Given the description of an element on the screen output the (x, y) to click on. 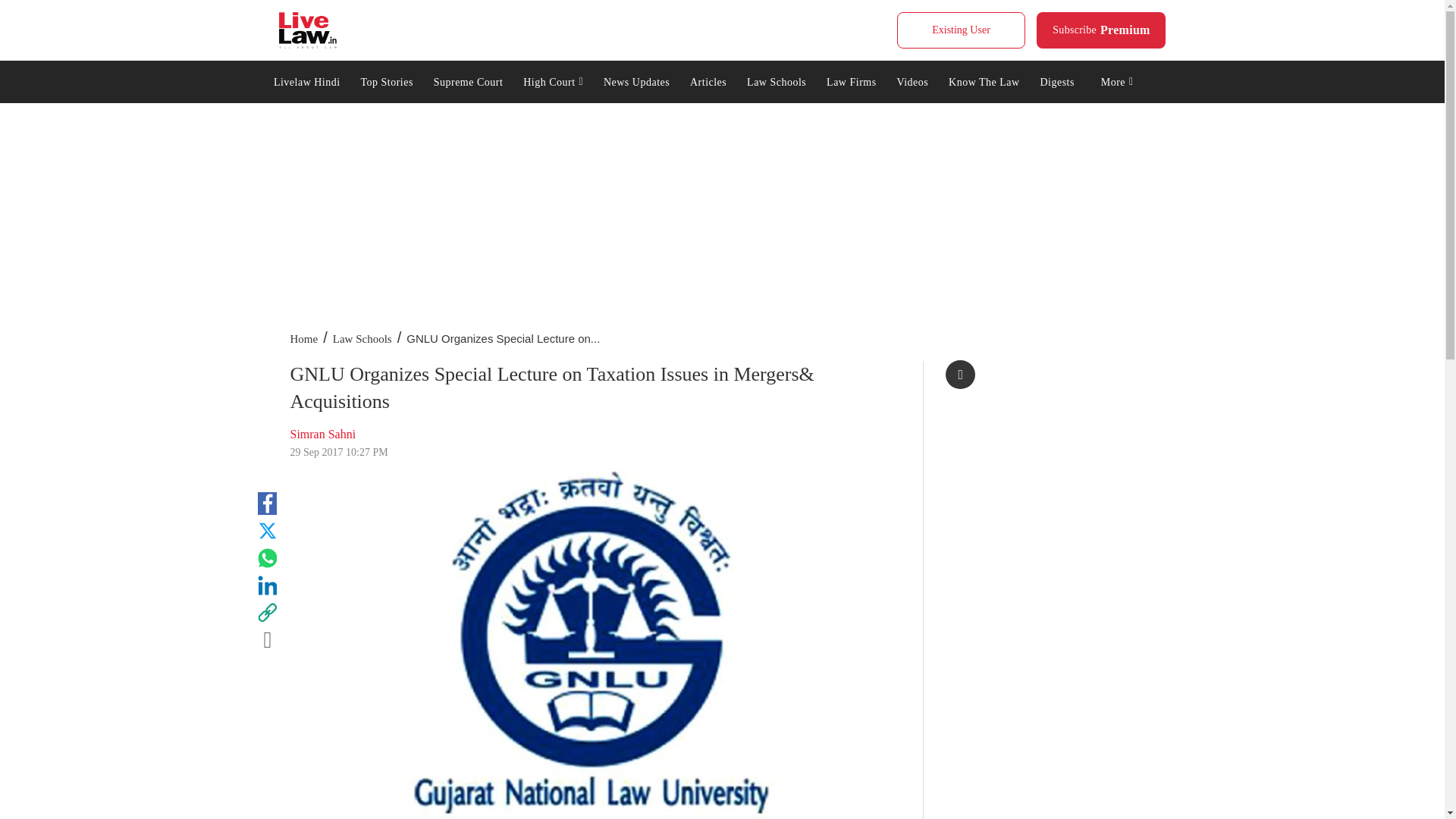
Livelaw Hindi (306, 80)
Existing User (960, 30)
Supreme Court (467, 80)
High Court (553, 80)
Live Law (307, 30)
Top Stories (1101, 30)
